Given the description of an element on the screen output the (x, y) to click on. 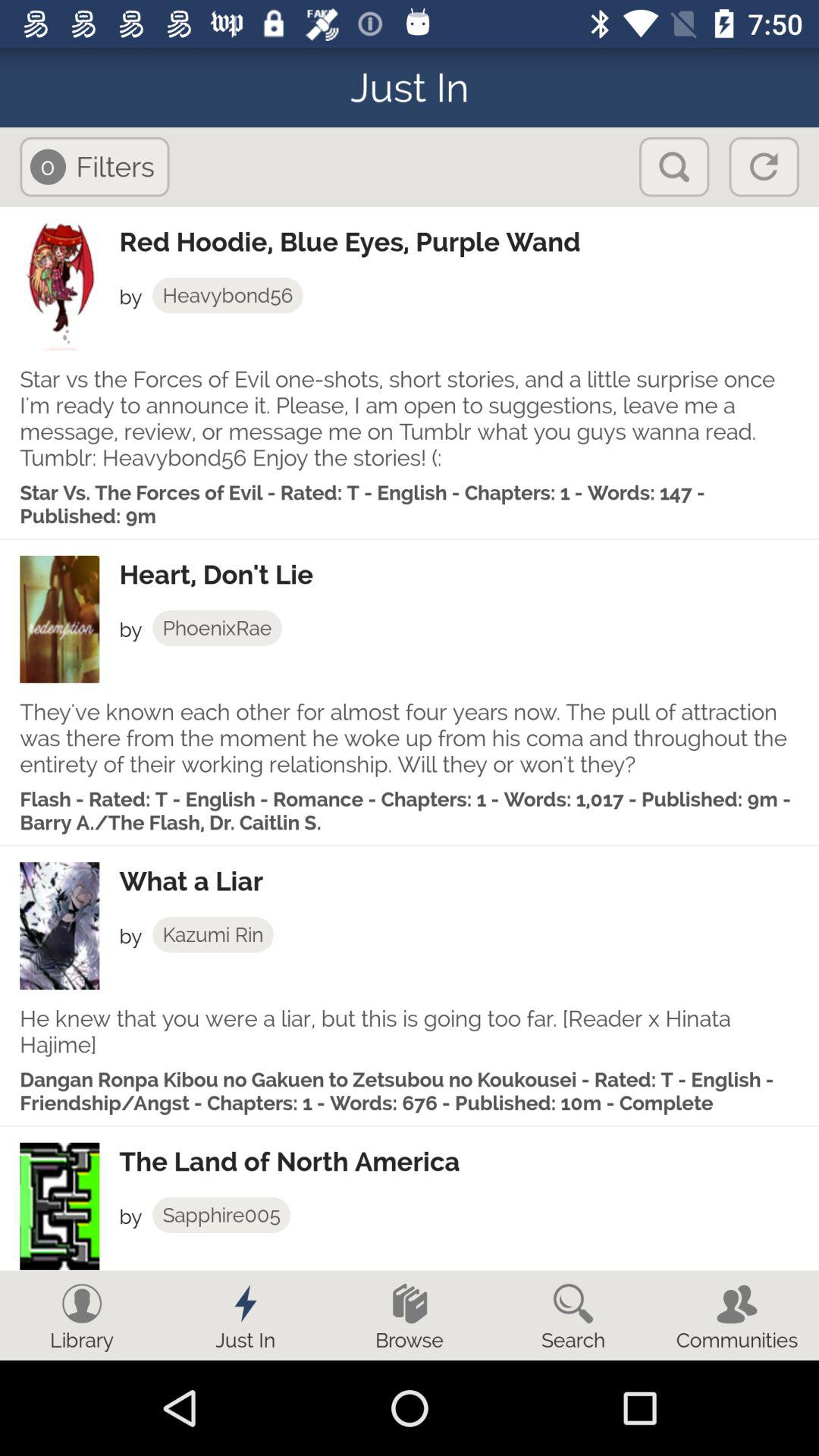
press item to the right of by item (212, 934)
